Given the description of an element on the screen output the (x, y) to click on. 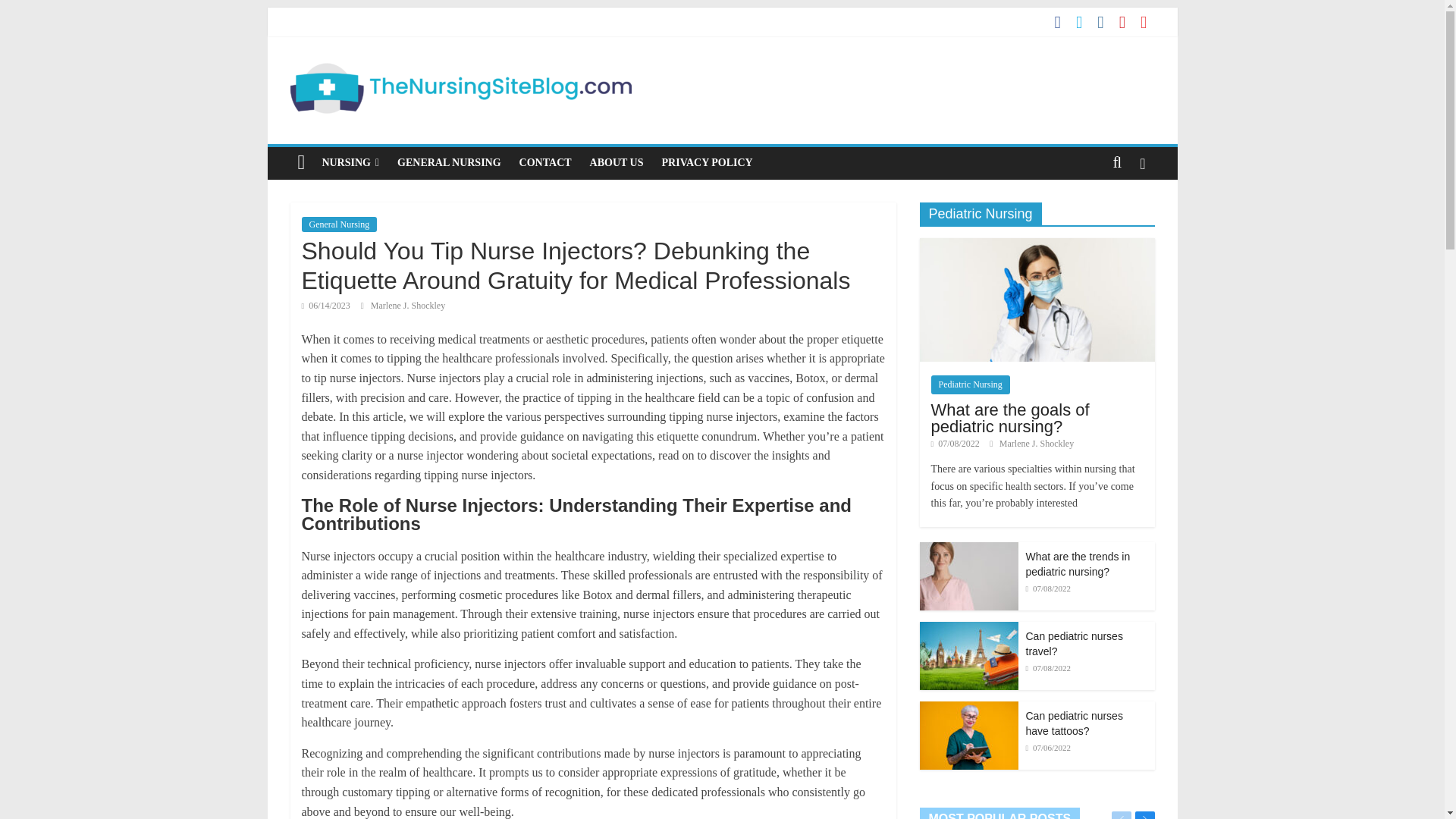
Marlene J. Shockley (408, 305)
General Nursing (339, 224)
What are the goals of pediatric nursing? (1036, 299)
ABOUT US (616, 163)
Marlene J. Shockley (1036, 443)
What are the goals of pediatric nursing? (1010, 417)
CONTACT (545, 163)
What are the goals of pediatric nursing? (1010, 417)
4:46 AM (325, 305)
NURSING (350, 163)
PRIVACY POLICY (706, 163)
Marlene J. Shockley (408, 305)
GENERAL NURSING (449, 163)
What are the goals of pediatric nursing? (1036, 245)
